Given the description of an element on the screen output the (x, y) to click on. 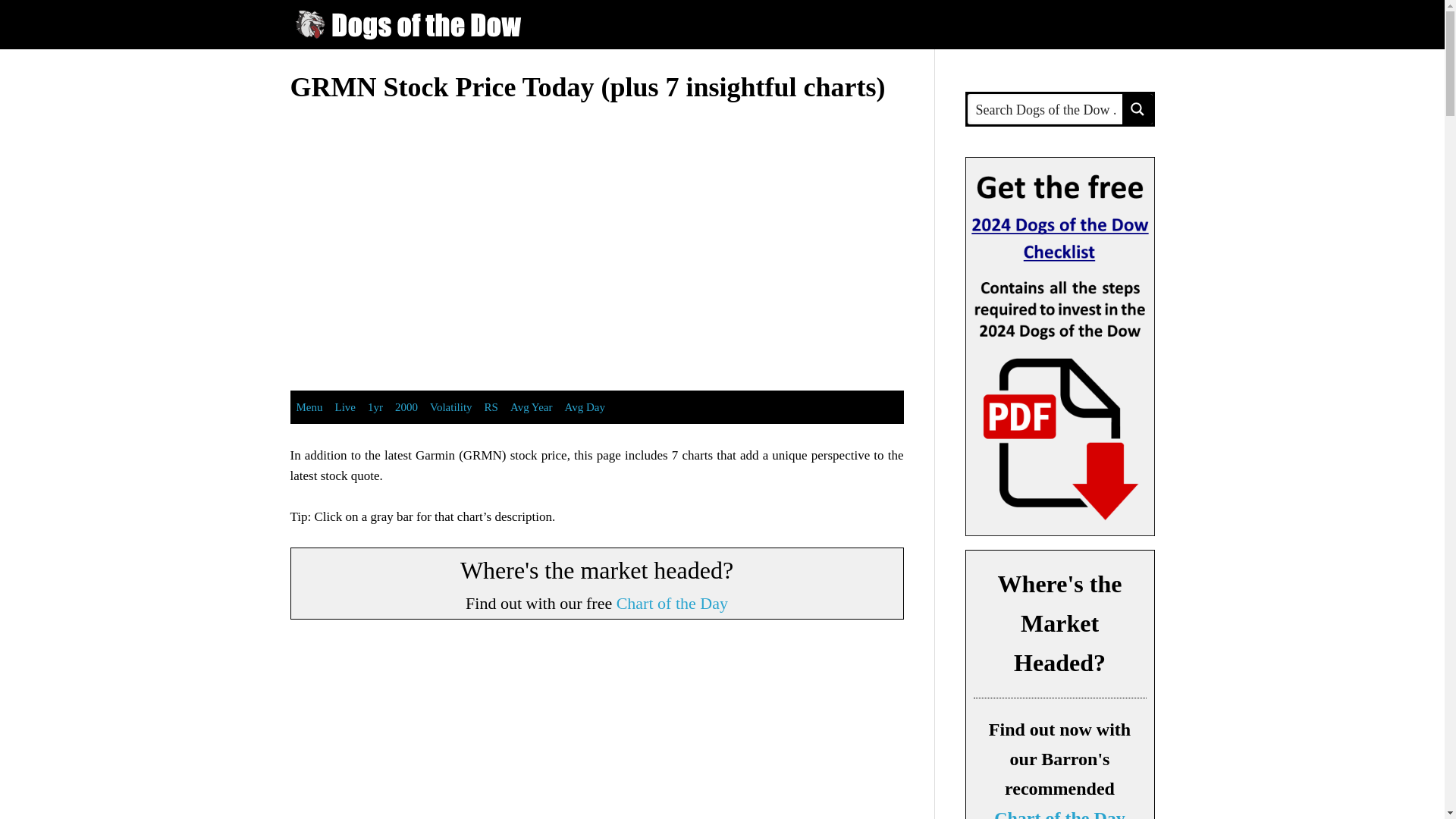
Volatility (451, 407)
Avg Day (583, 407)
Chart of the Day (671, 601)
1yr (374, 407)
Chart of the Day (671, 601)
2000 (405, 407)
Advertisement (416, 233)
Menu (309, 407)
Dogs of the Dow Checklist (1058, 346)
Advertisement (597, 729)
Advertisement (776, 233)
Live (345, 407)
RS (491, 407)
Avg Year (531, 407)
